Given the description of an element on the screen output the (x, y) to click on. 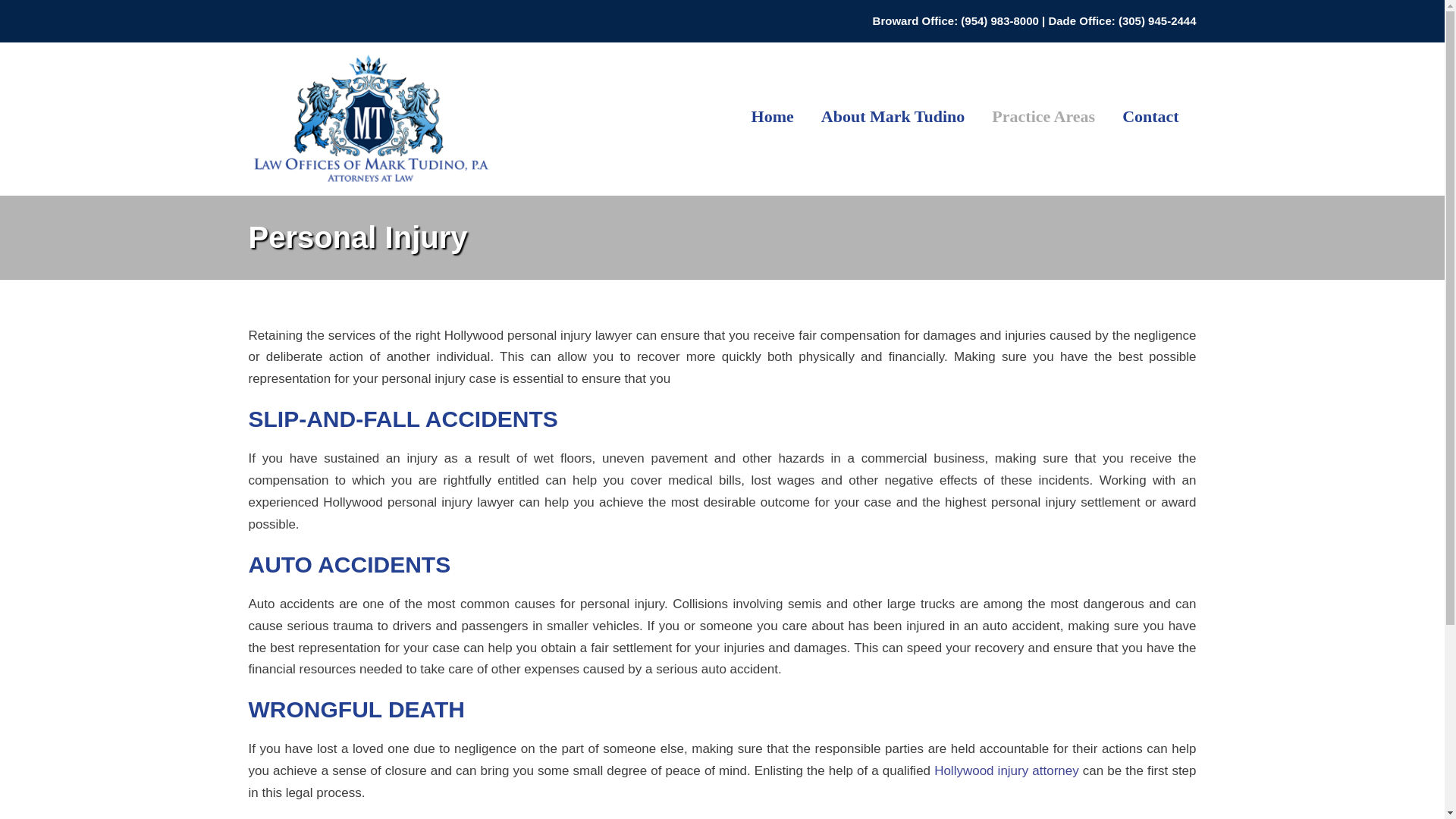
Hollywood injury attorney (1006, 770)
Contact (1150, 122)
Home (772, 122)
Practice Areas (1042, 122)
About Mark Tudino (893, 122)
